Given the description of an element on the screen output the (x, y) to click on. 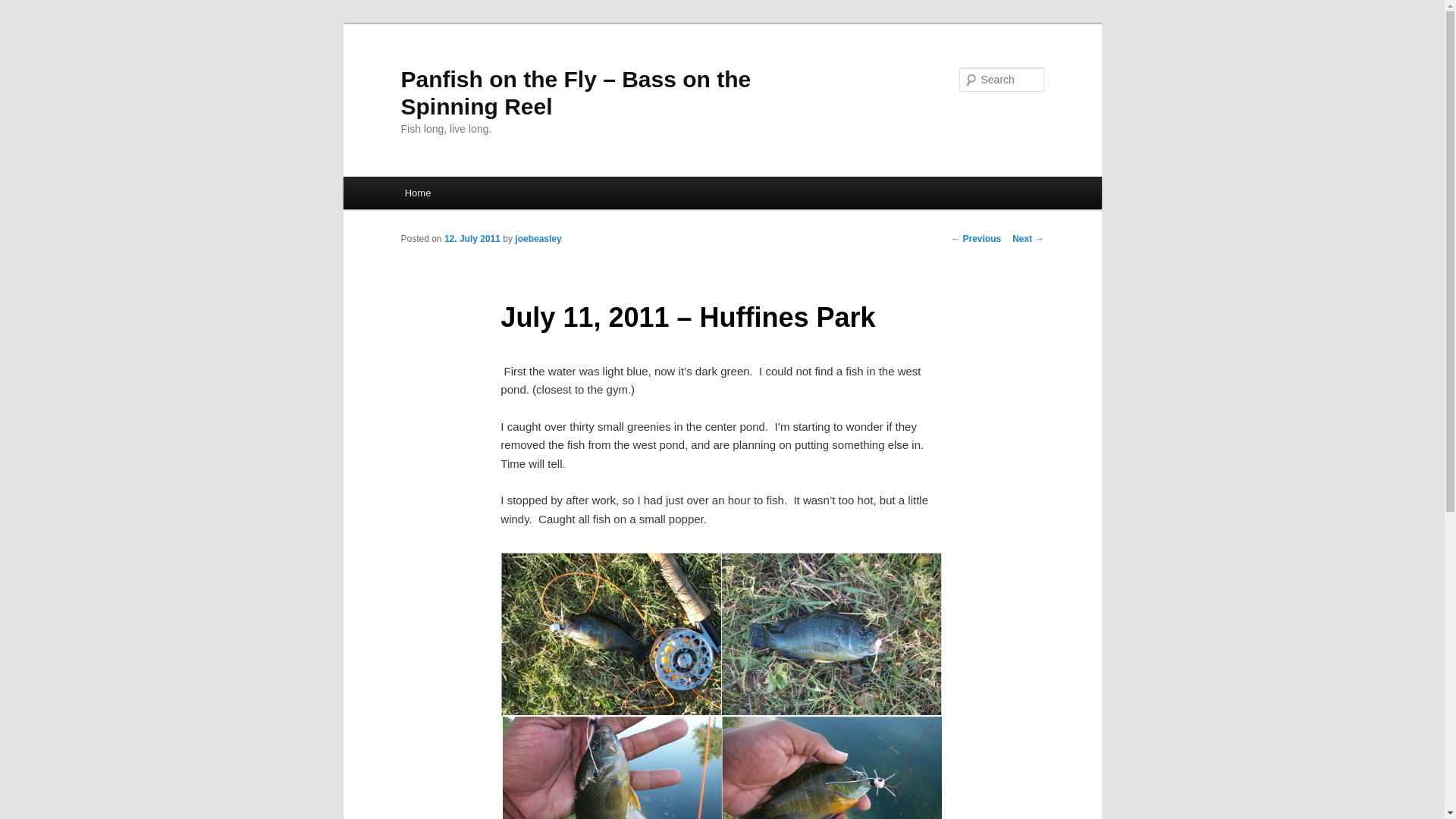
12. July 2011 (472, 238)
Search (24, 8)
Home (417, 192)
joebeasley (537, 238)
20:30 (472, 238)
View all posts by joebeasley (537, 238)
